Given the description of an element on the screen output the (x, y) to click on. 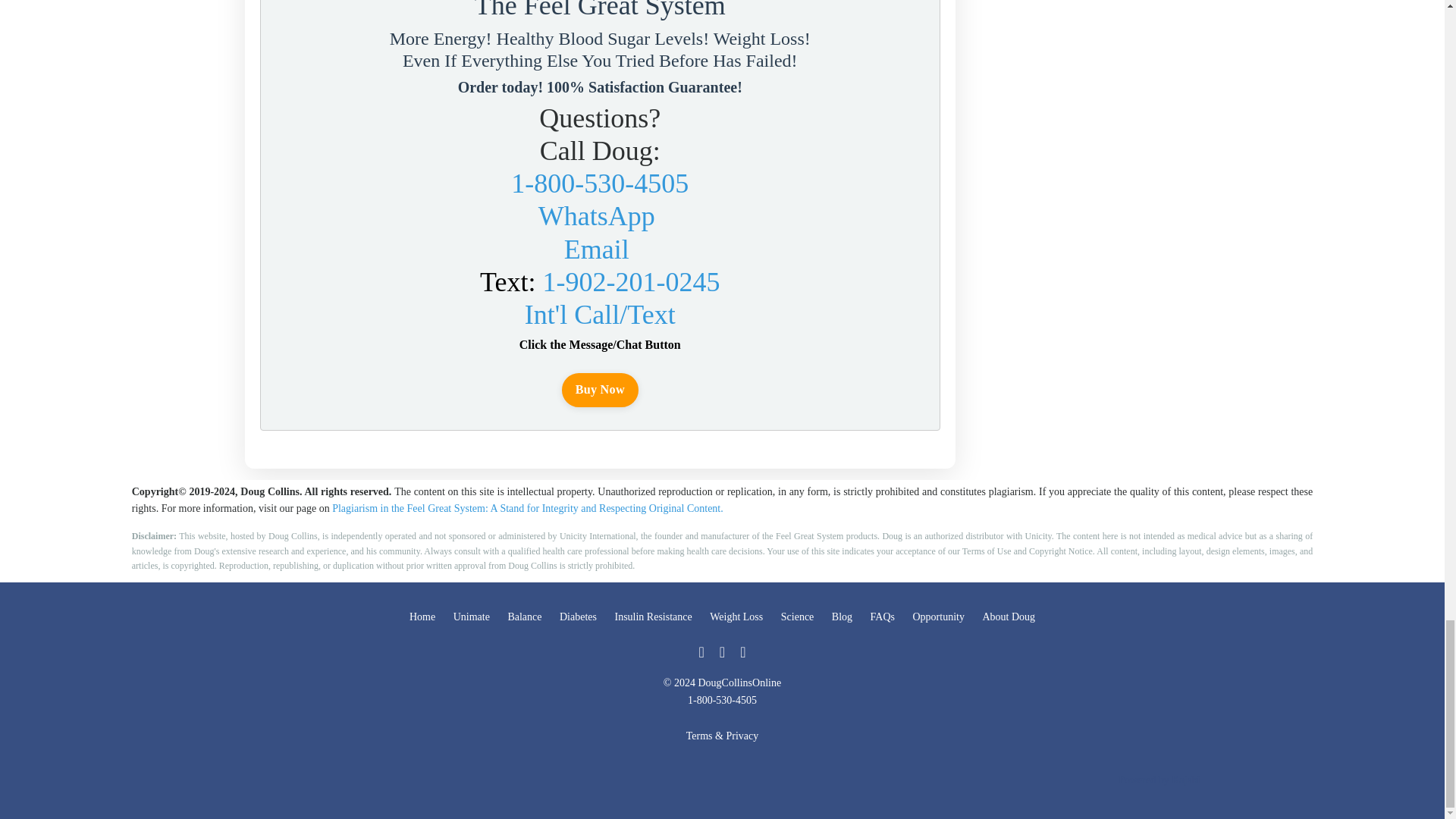
Buy Now (600, 389)
Email (596, 249)
Text: 1-902-201-0245 (599, 281)
WhatsApp (596, 215)
1-800-530-4505 (599, 183)
